Given the description of an element on the screen output the (x, y) to click on. 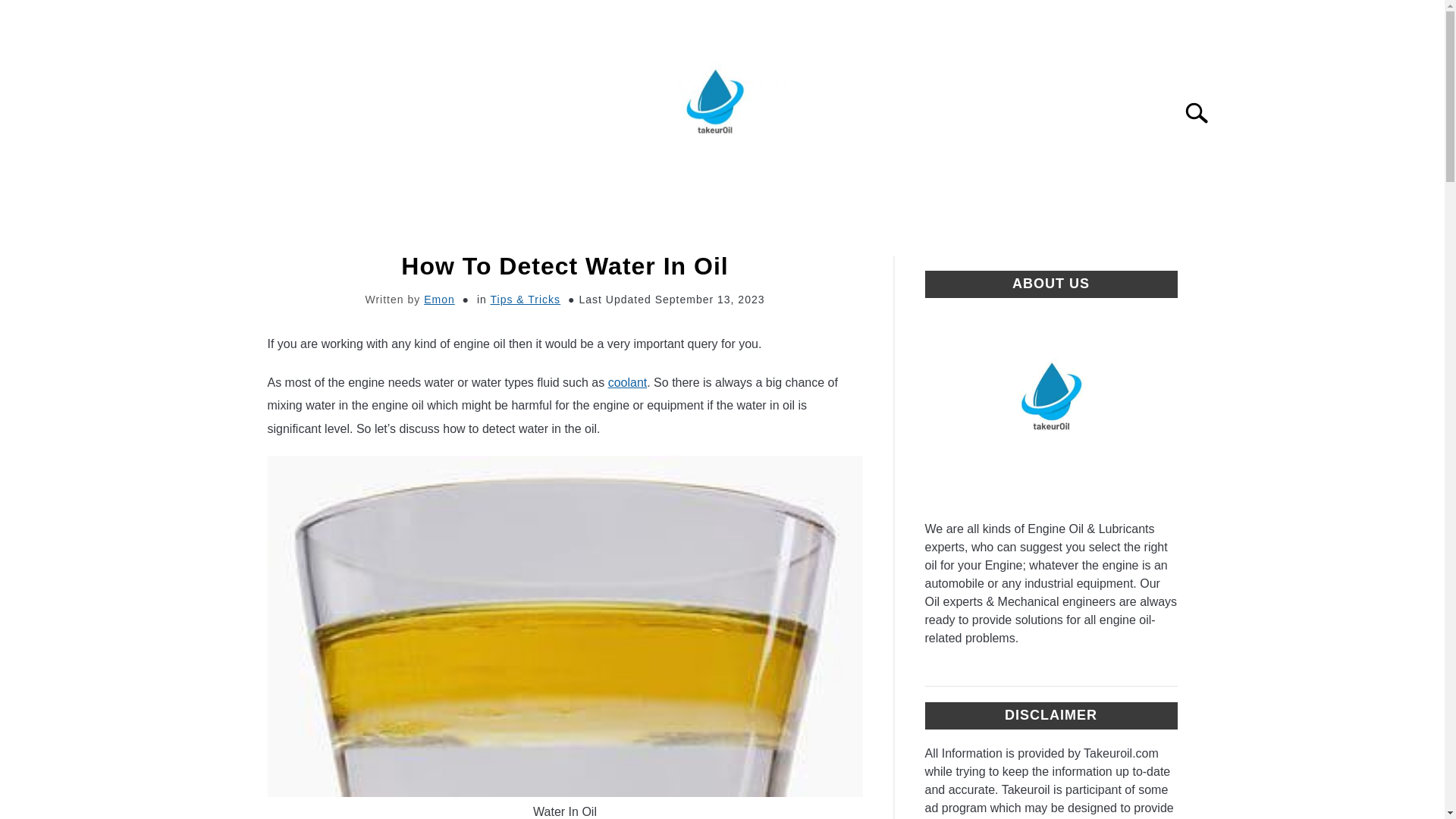
Emon (438, 299)
coolant (627, 382)
Search (1203, 112)
